Given the description of an element on the screen output the (x, y) to click on. 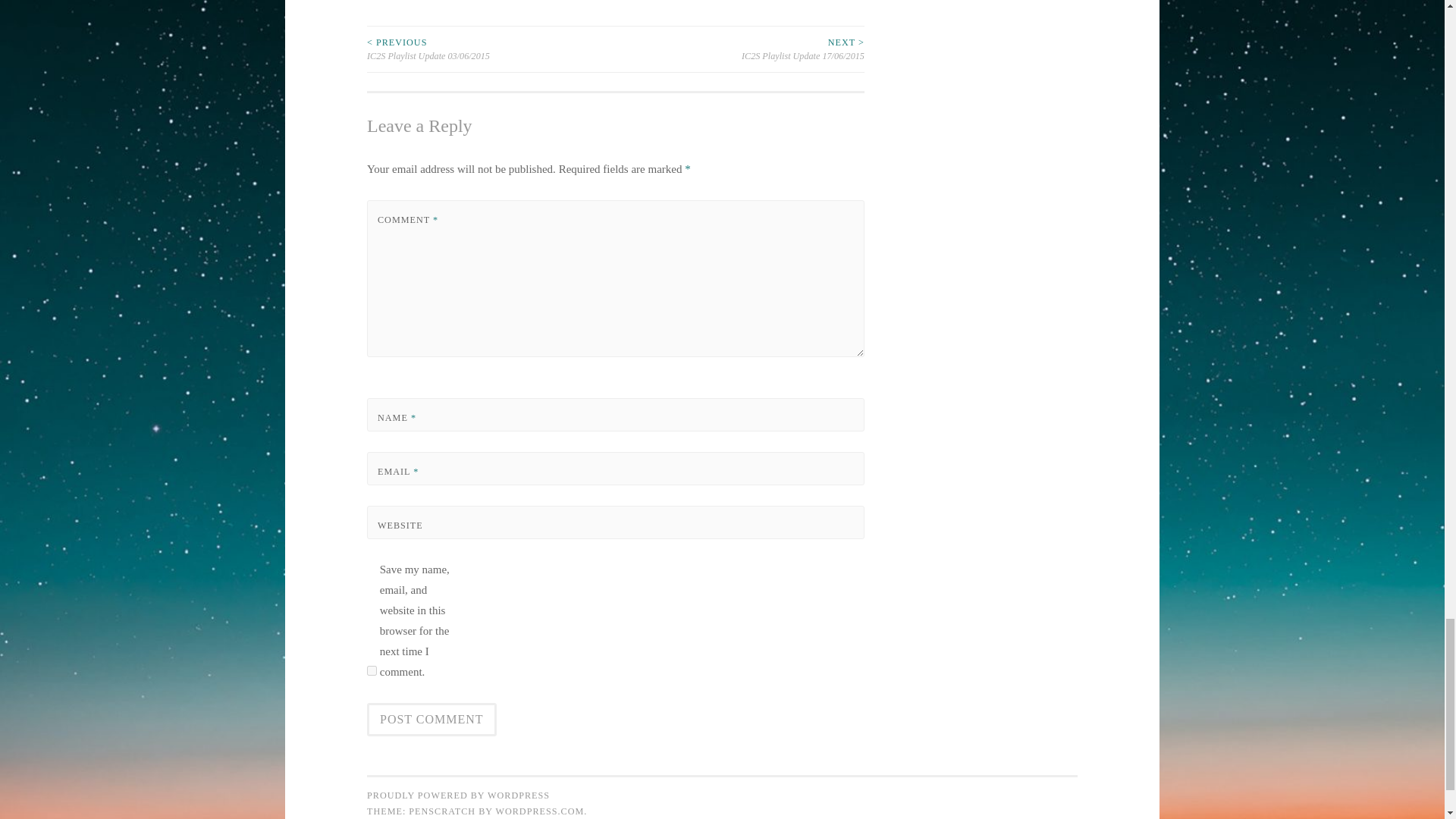
Post Comment (431, 719)
yes (371, 670)
Post Comment (431, 719)
